Given the description of an element on the screen output the (x, y) to click on. 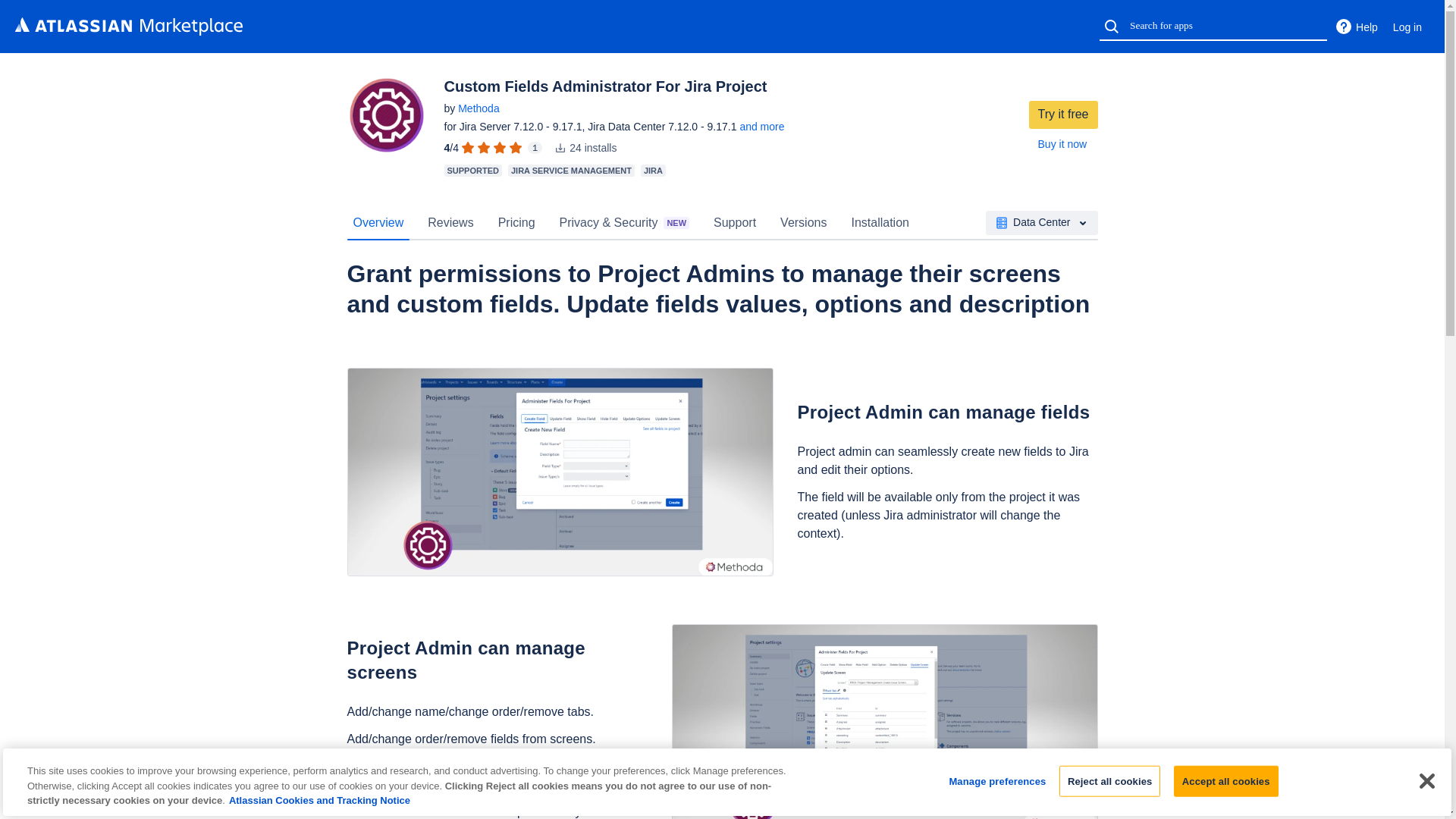
Atlassian Cookies and Tracking Notice (319, 799)
Methoda (478, 108)
Log in (1407, 26)
Reject all cookies (1109, 780)
Manage preferences (997, 780)
Data Center (1041, 222)
Atlassian Marketplace (128, 26)
Buy it now (1062, 144)
Help (1356, 26)
View version history for more details (761, 126)
Try it free (1063, 114)
and more (761, 126)
Accept all cookies (1225, 780)
